Given the description of an element on the screen output the (x, y) to click on. 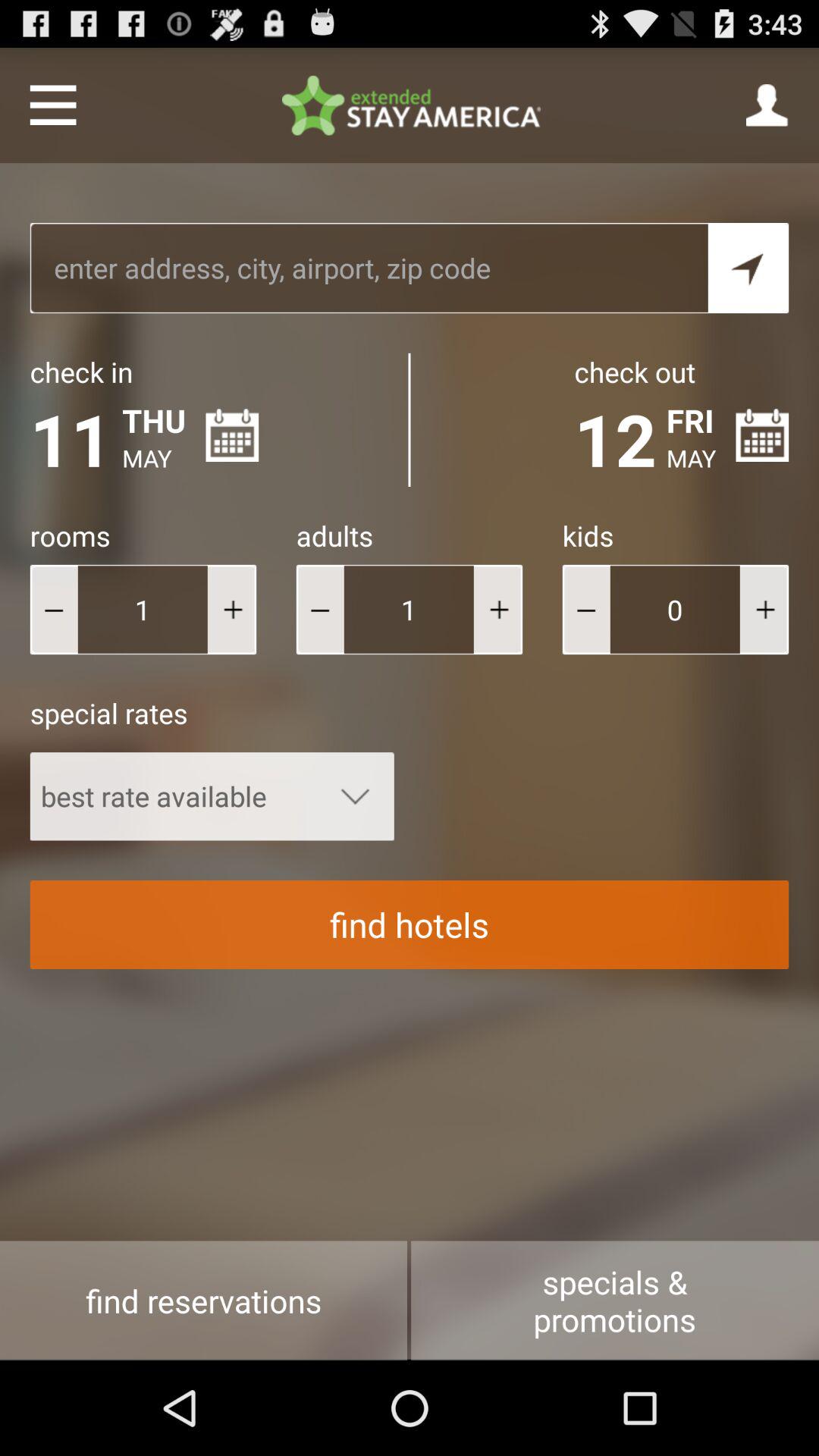
increase number of kids (763, 609)
